Given the description of an element on the screen output the (x, y) to click on. 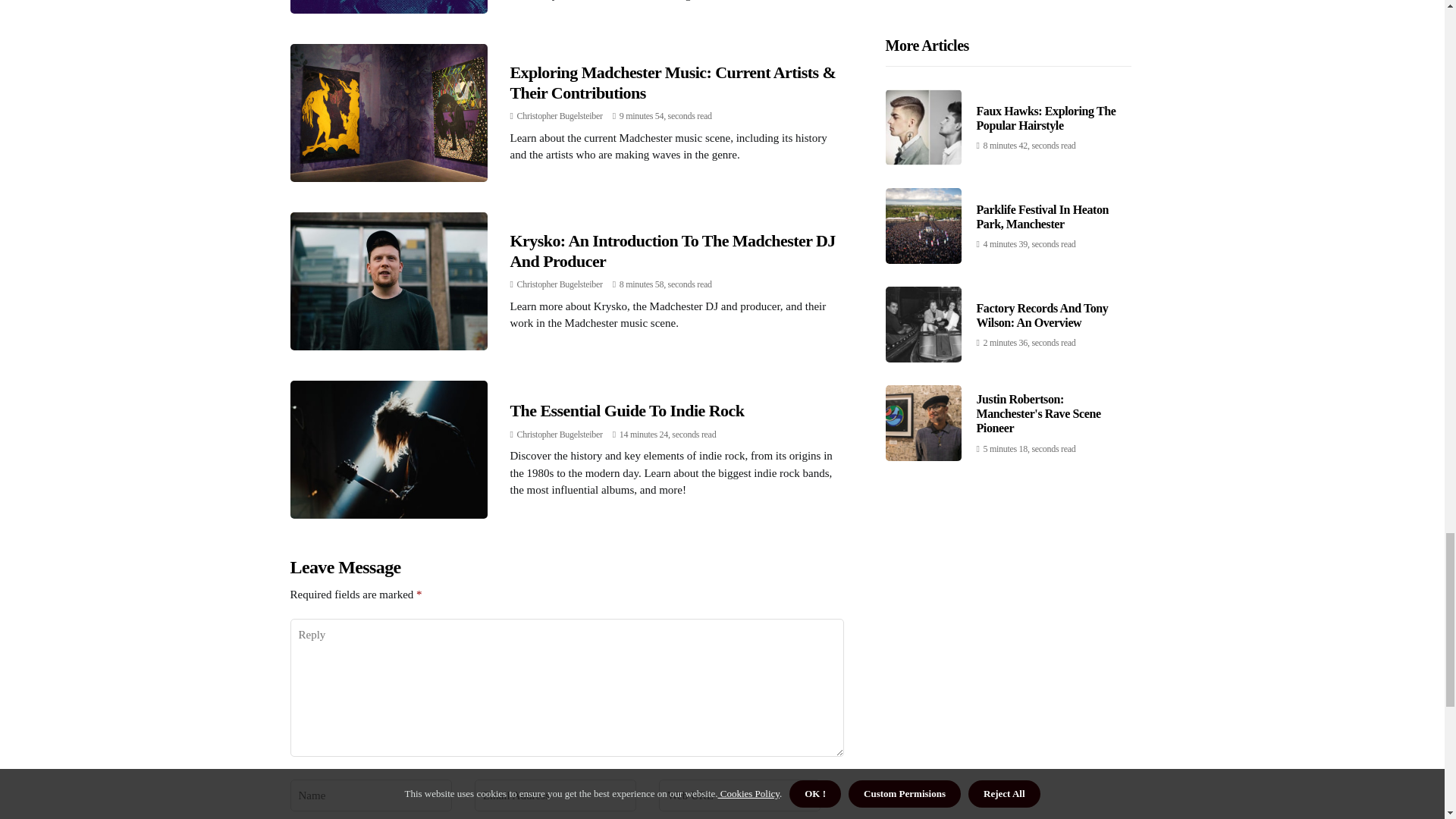
Posts by Christopher Bugelsteiber (559, 115)
Posts by Christopher Bugelsteiber (559, 284)
Posts by Christopher Bugelsteiber (559, 434)
